Given the description of an element on the screen output the (x, y) to click on. 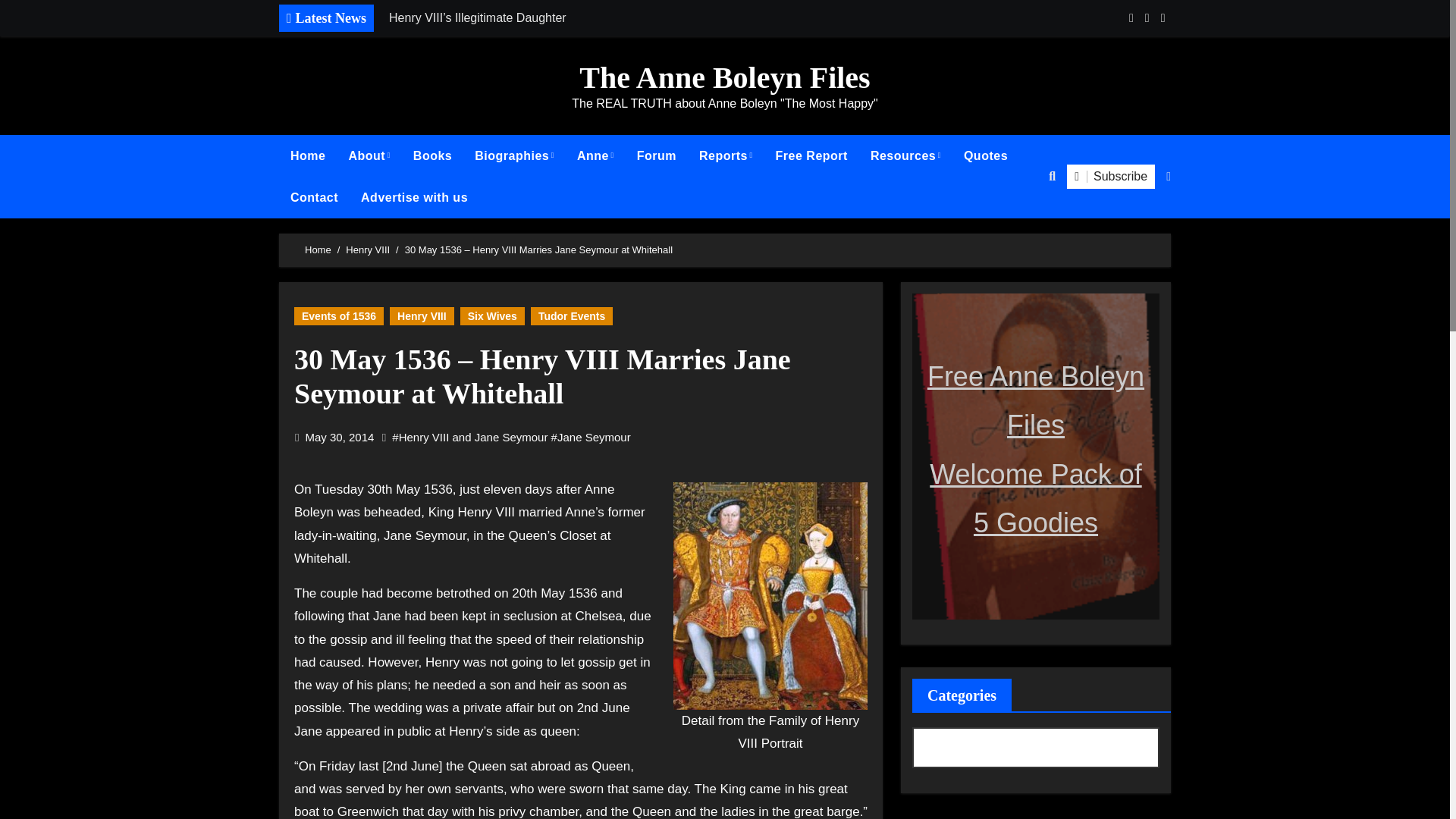
Books (432, 155)
The Anne Boleyn Files (724, 77)
About (368, 155)
Home (307, 155)
Home (307, 155)
Biographies (514, 155)
Biographies (514, 155)
Books (432, 155)
About (368, 155)
